Given the description of an element on the screen output the (x, y) to click on. 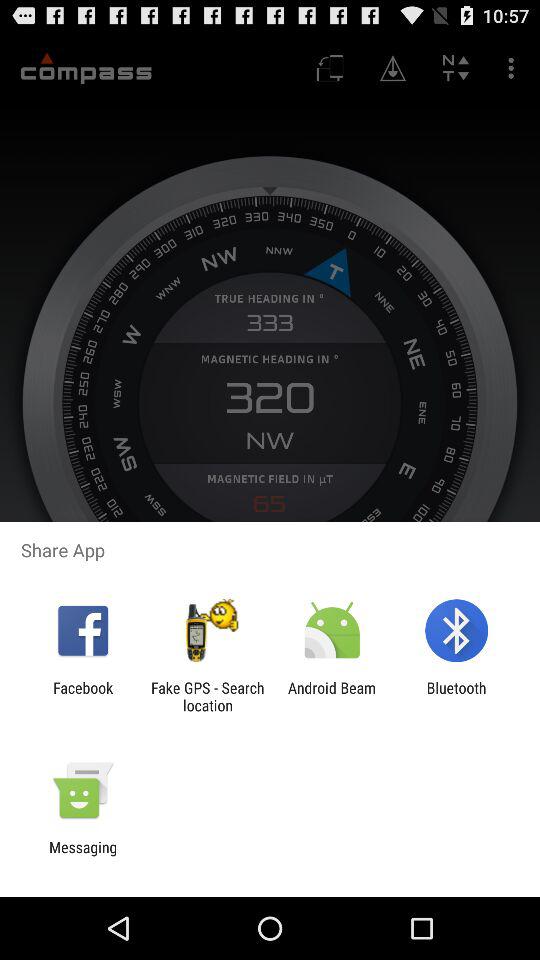
select android beam (332, 696)
